Given the description of an element on the screen output the (x, y) to click on. 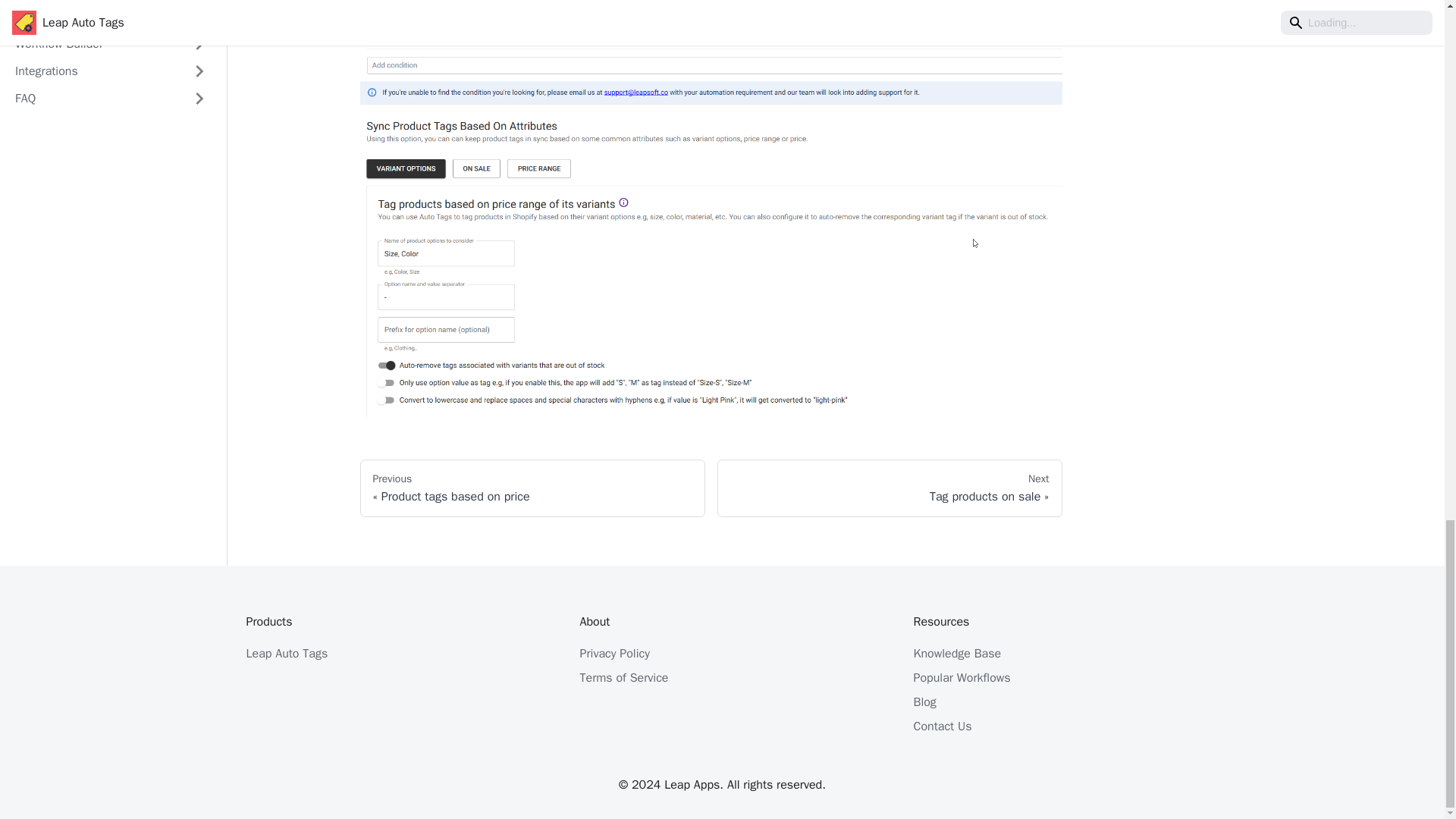
Popular Workflows (961, 677)
Blog (924, 702)
Privacy Policy (531, 487)
Leap Auto Tags (614, 653)
Knowledge Base (286, 653)
Contact Us (956, 653)
Terms of Service (889, 487)
